Given the description of an element on the screen output the (x, y) to click on. 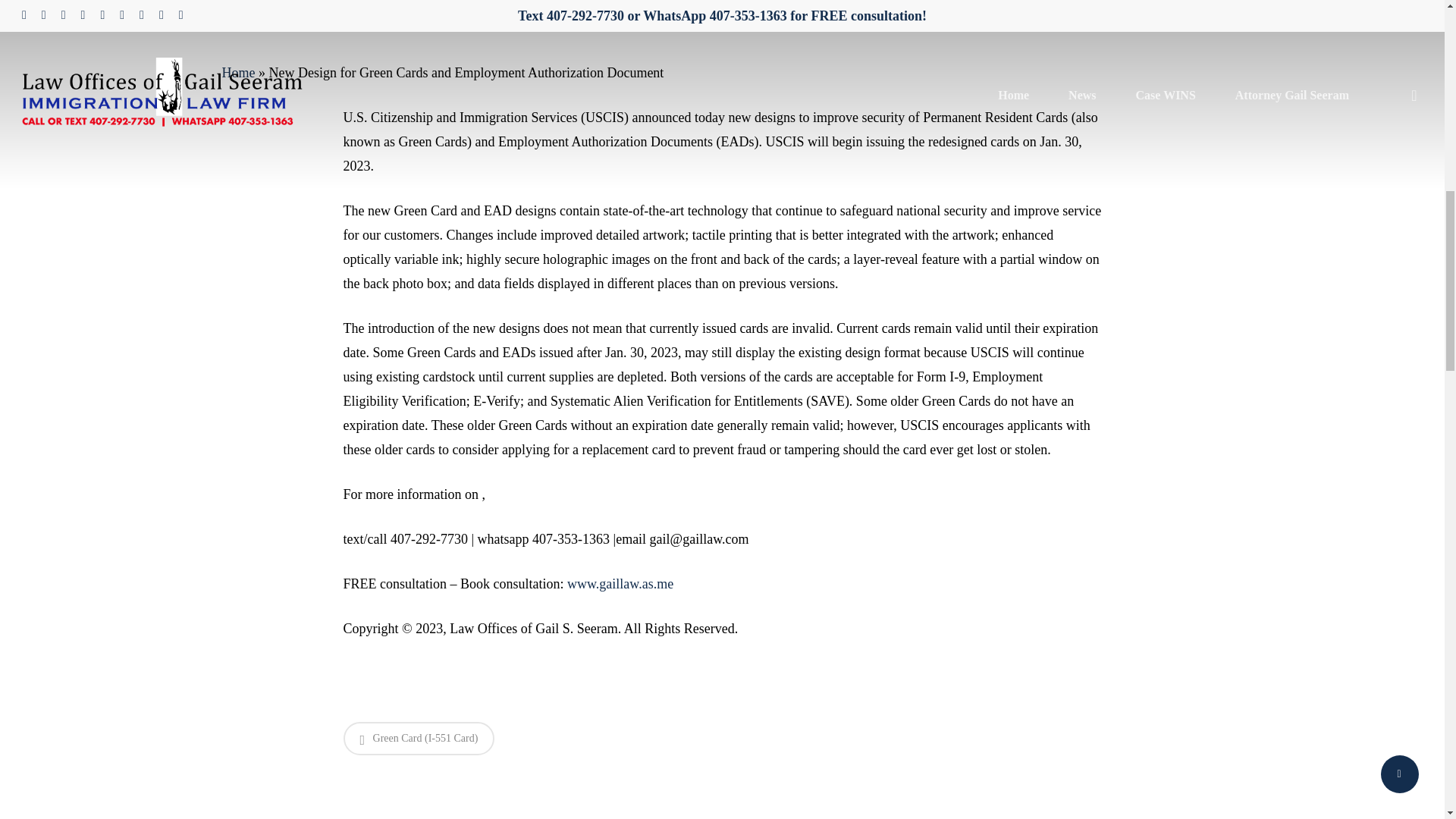
www.gaillaw.as.me (619, 583)
Home (237, 72)
